Given the description of an element on the screen output the (x, y) to click on. 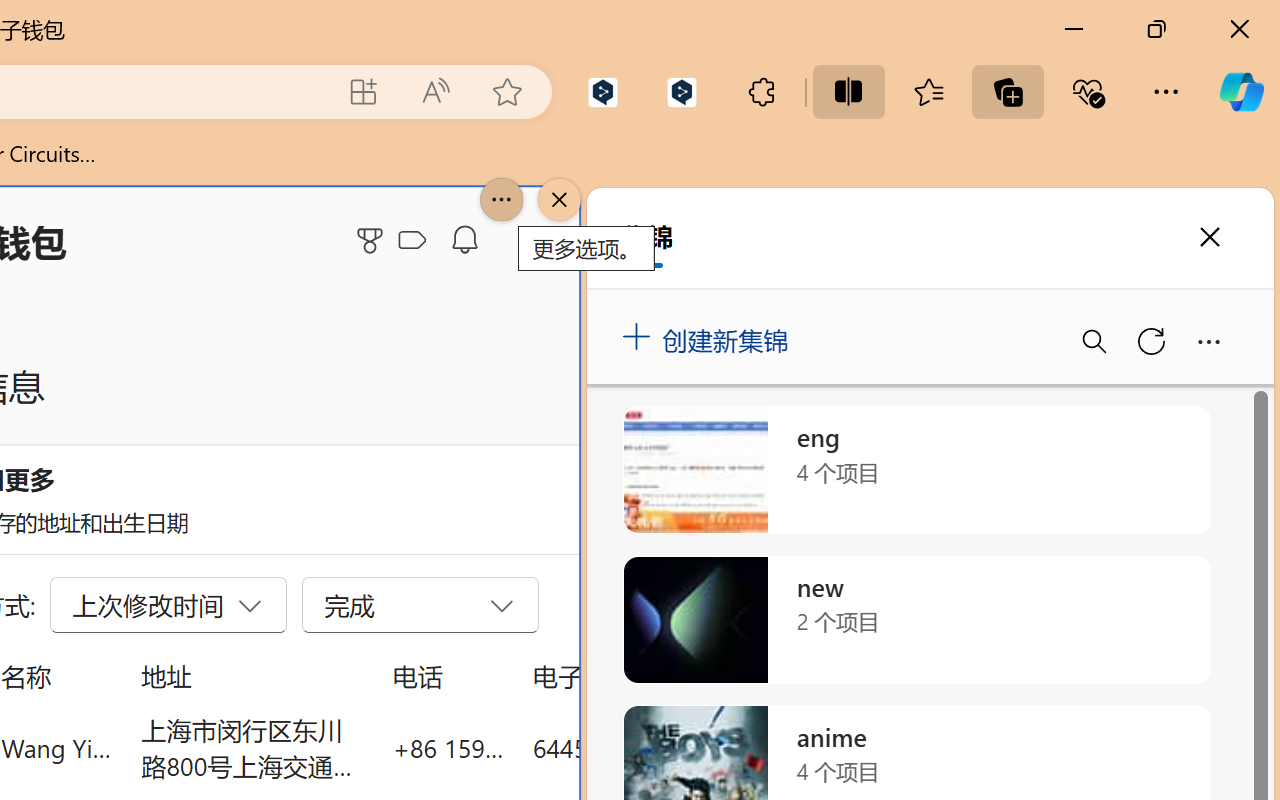
Class: ___1lmltc5 f1agt3bx f12qytpq (411, 241)
Microsoft Rewards (373, 240)
